Given the description of an element on the screen output the (x, y) to click on. 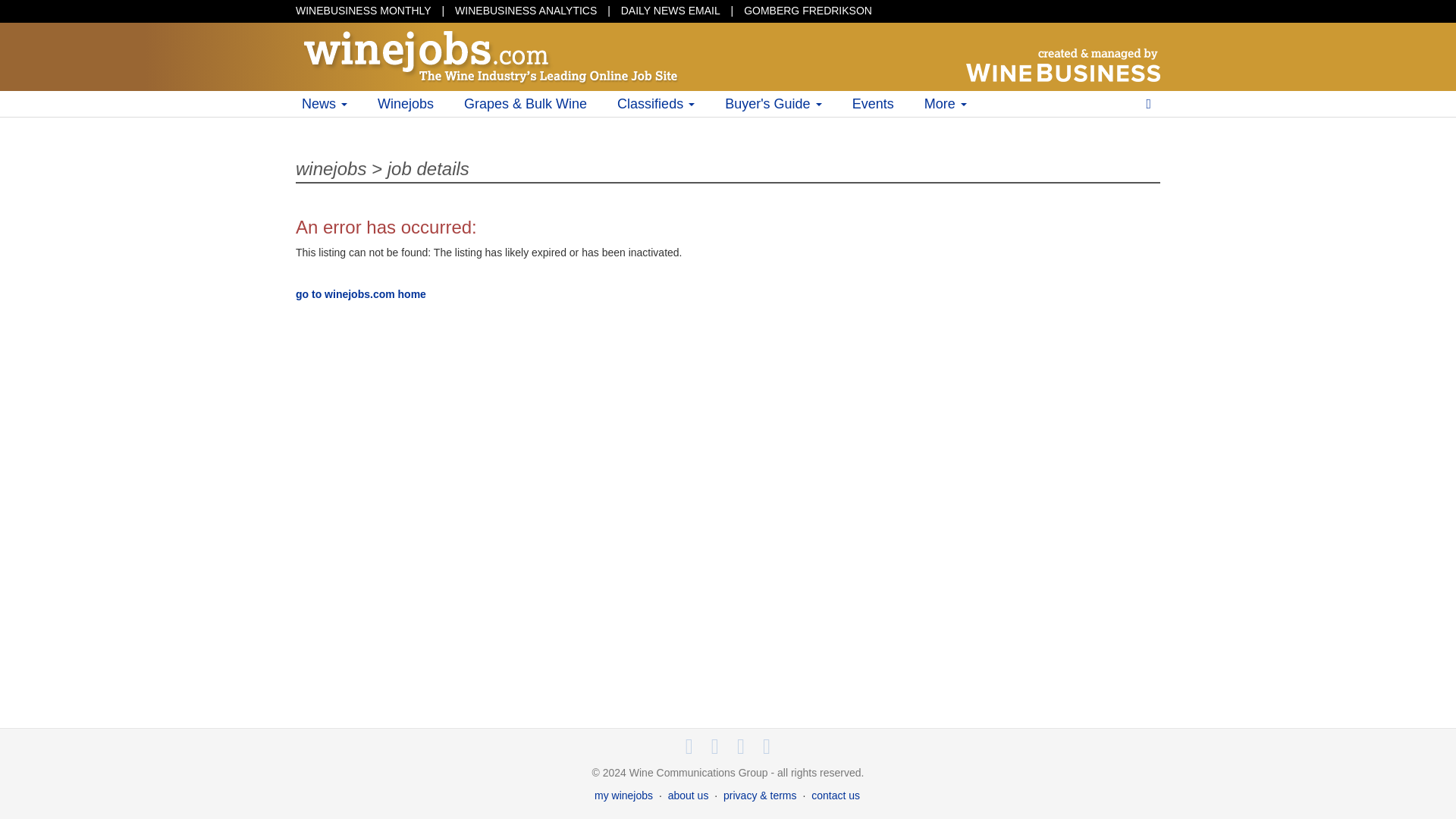
GOMBERG FREDRIKSON (808, 10)
DAILY NEWS EMAIL (670, 10)
WINEBUSINESS ANALYTICS (525, 10)
WINEBUSINESS MONTHLY (362, 10)
